Given the description of an element on the screen output the (x, y) to click on. 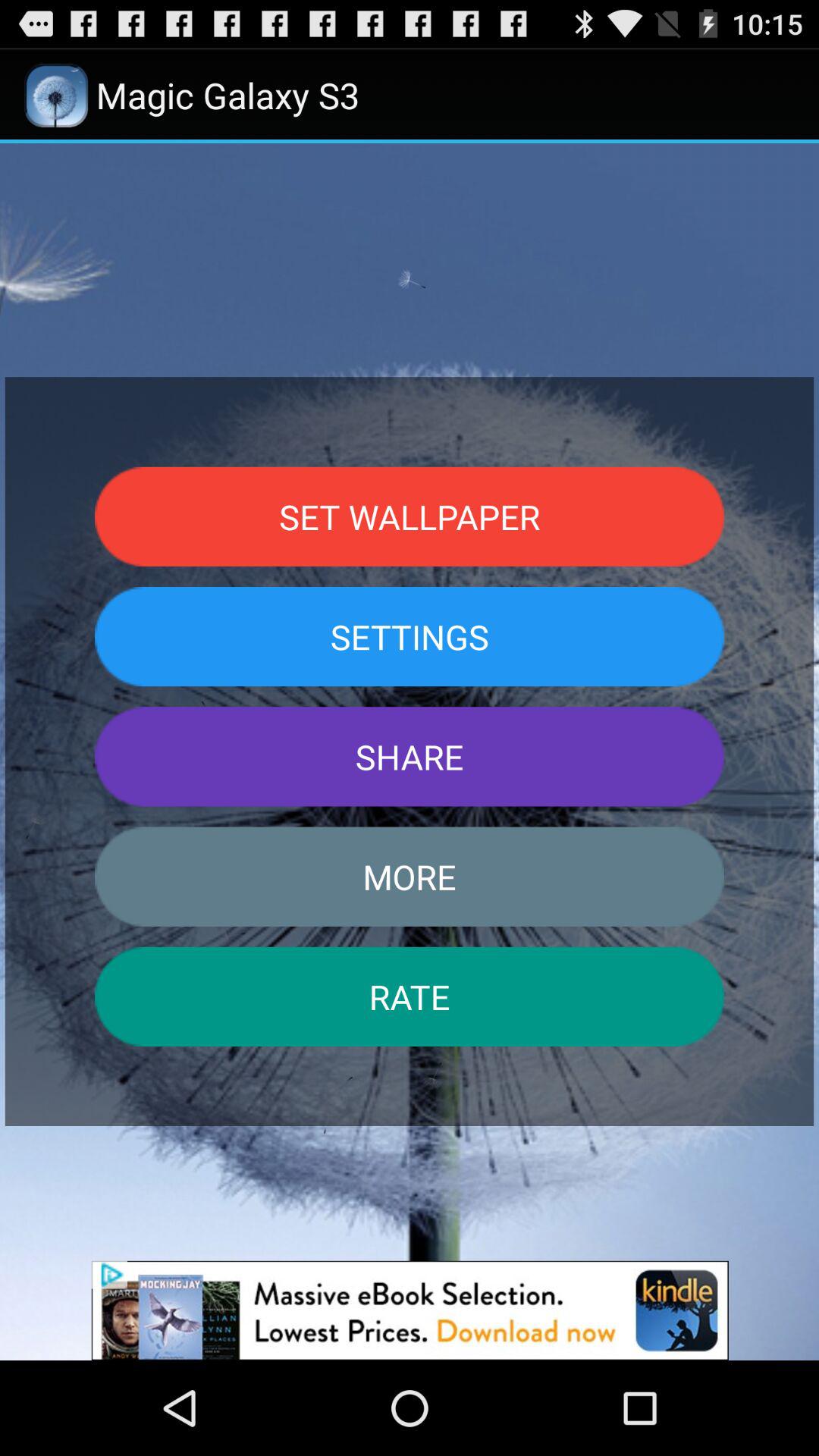
turn on item above rate item (409, 876)
